Given the description of an element on the screen output the (x, y) to click on. 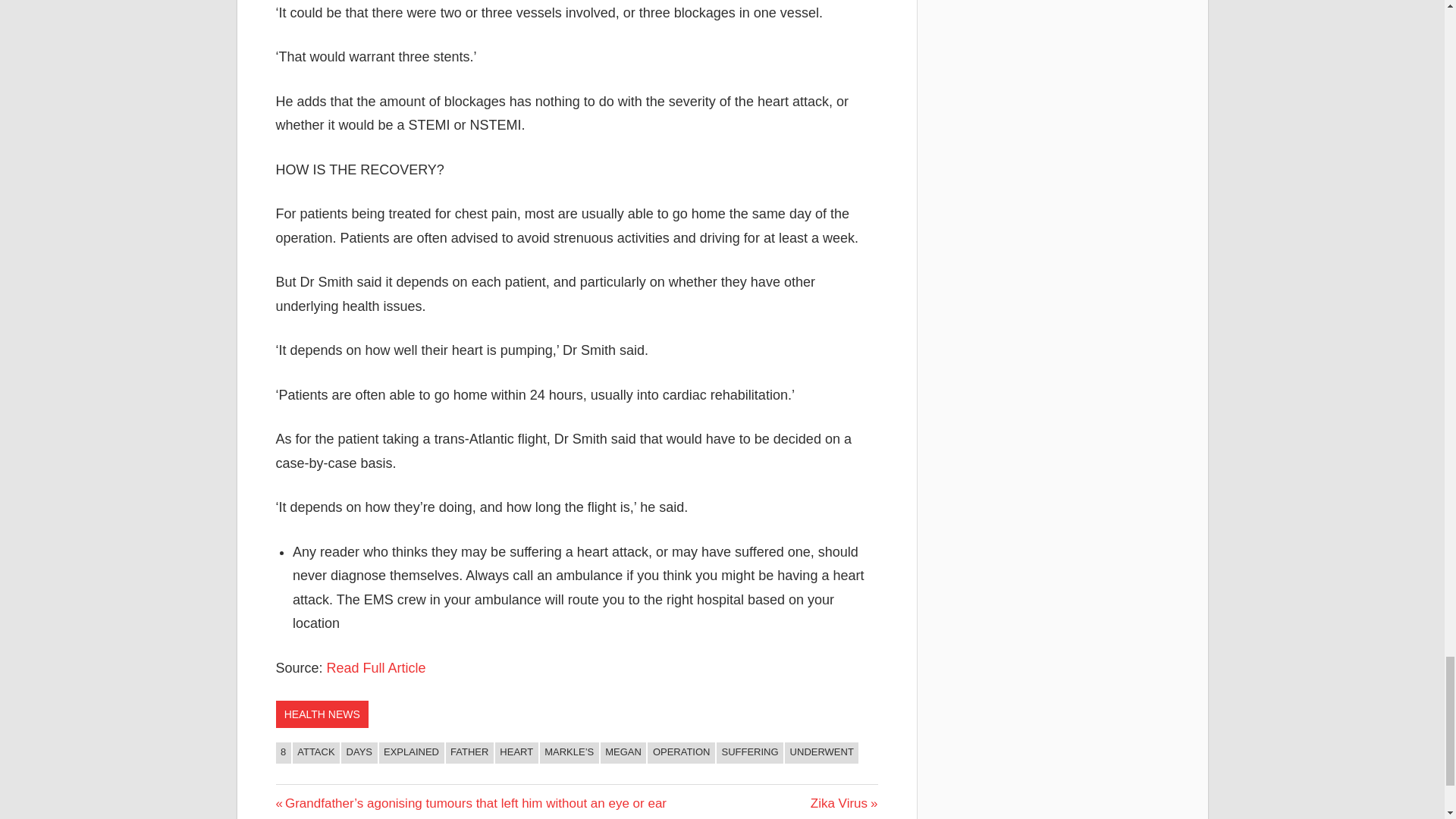
HEALTH NEWS (322, 714)
ATTACK (315, 752)
UNDERWENT (821, 752)
SUFFERING (749, 752)
MEGAN (622, 752)
DAYS (843, 803)
Read Full Article (358, 752)
HEART (376, 667)
8 (516, 752)
FATHER (283, 752)
EXPLAINED (469, 752)
OPERATION (411, 752)
